Given the description of an element on the screen output the (x, y) to click on. 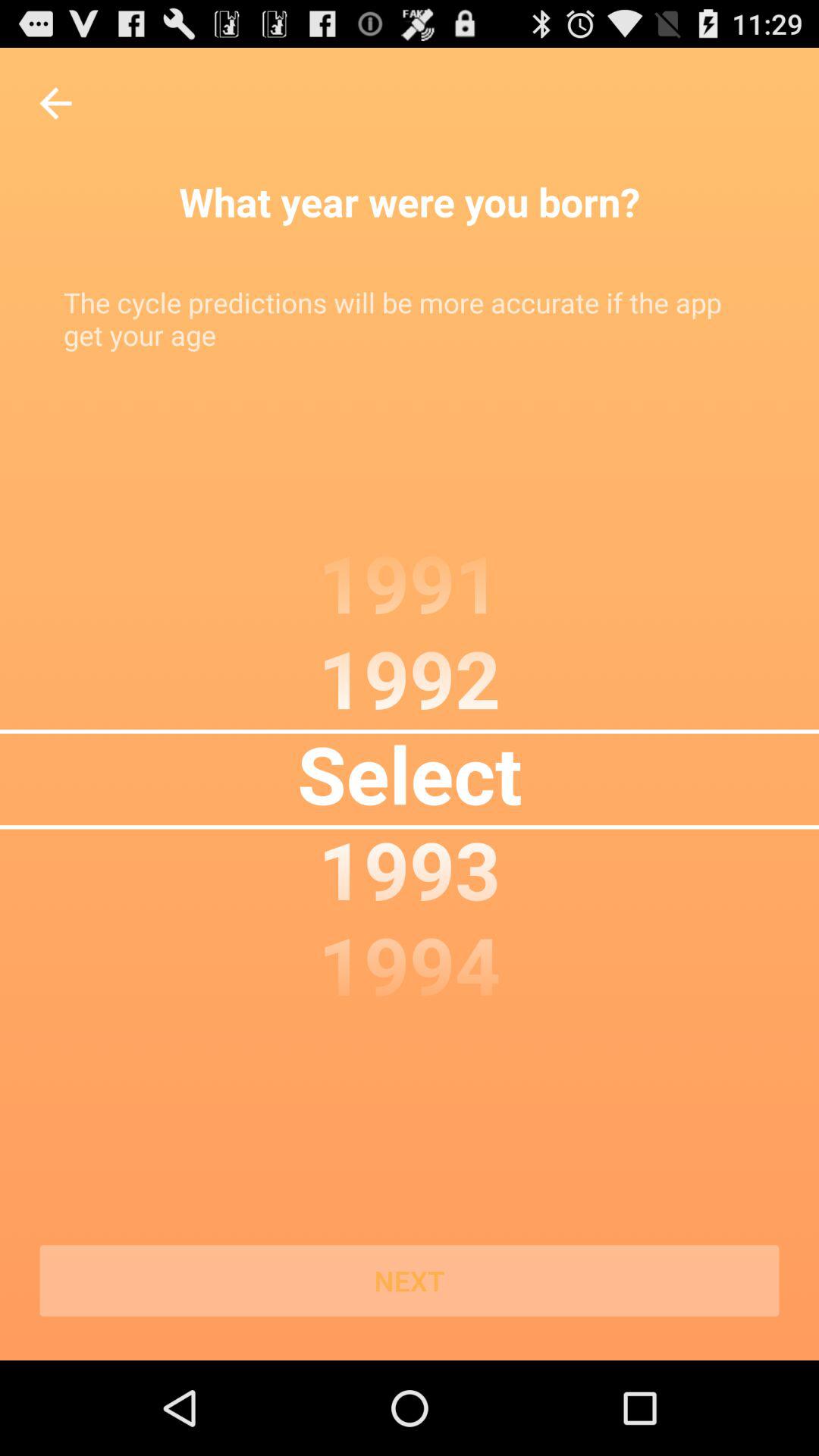
tap the icon below 1994 icon (409, 1280)
